Given the description of an element on the screen output the (x, y) to click on. 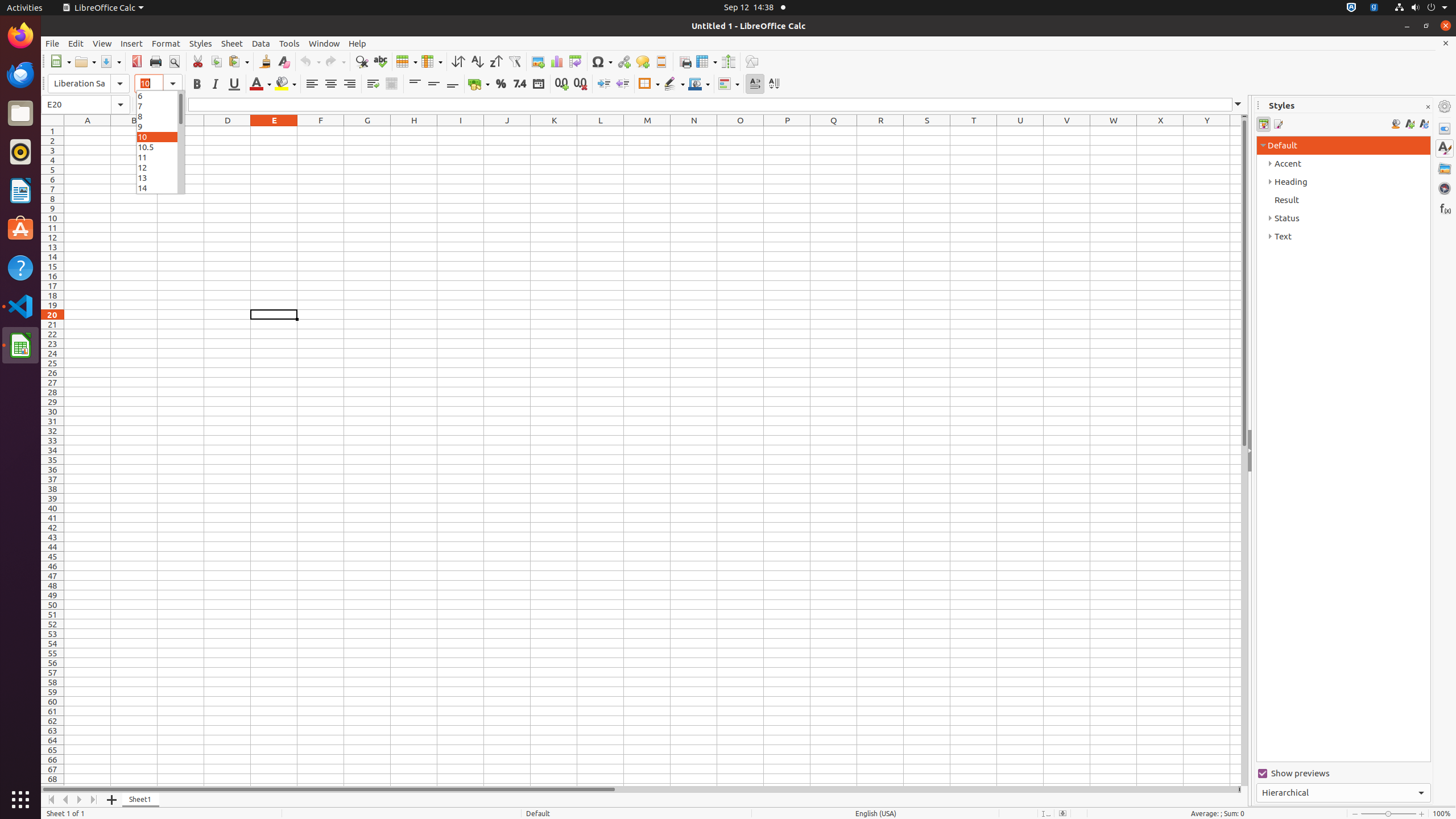
Underline Element type: push-button (233, 83)
Date Element type: push-button (537, 83)
I1 Element type: table-cell (460, 130)
10.5 Element type: list-item (160, 146)
Visual Studio Code Element type: push-button (20, 306)
